Given the description of an element on the screen output the (x, y) to click on. 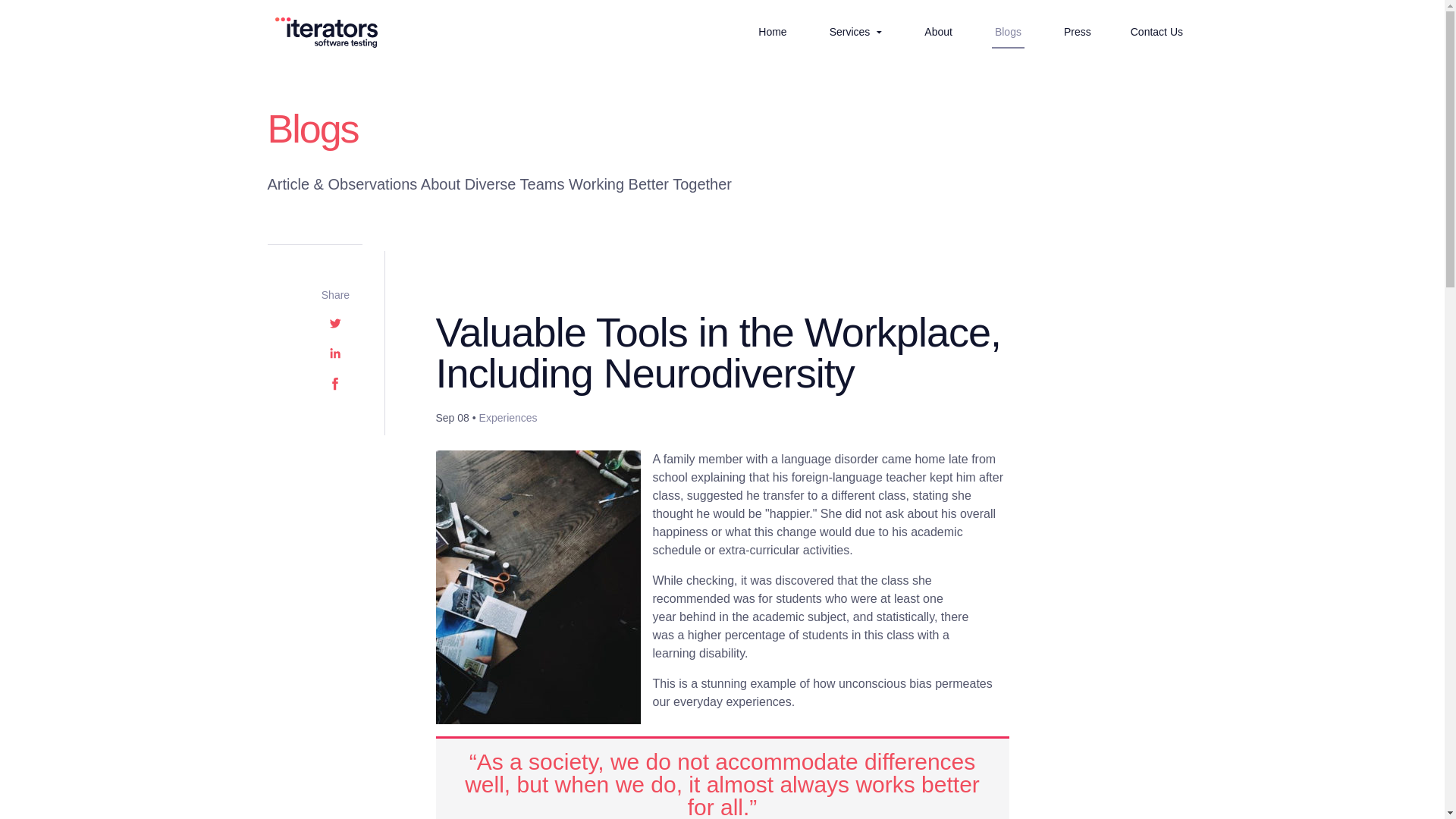
Home (772, 31)
Press (1077, 31)
About (938, 31)
Contact Us (1156, 31)
Services (855, 32)
Blogs (1008, 31)
Experiences (508, 417)
